Given the description of an element on the screen output the (x, y) to click on. 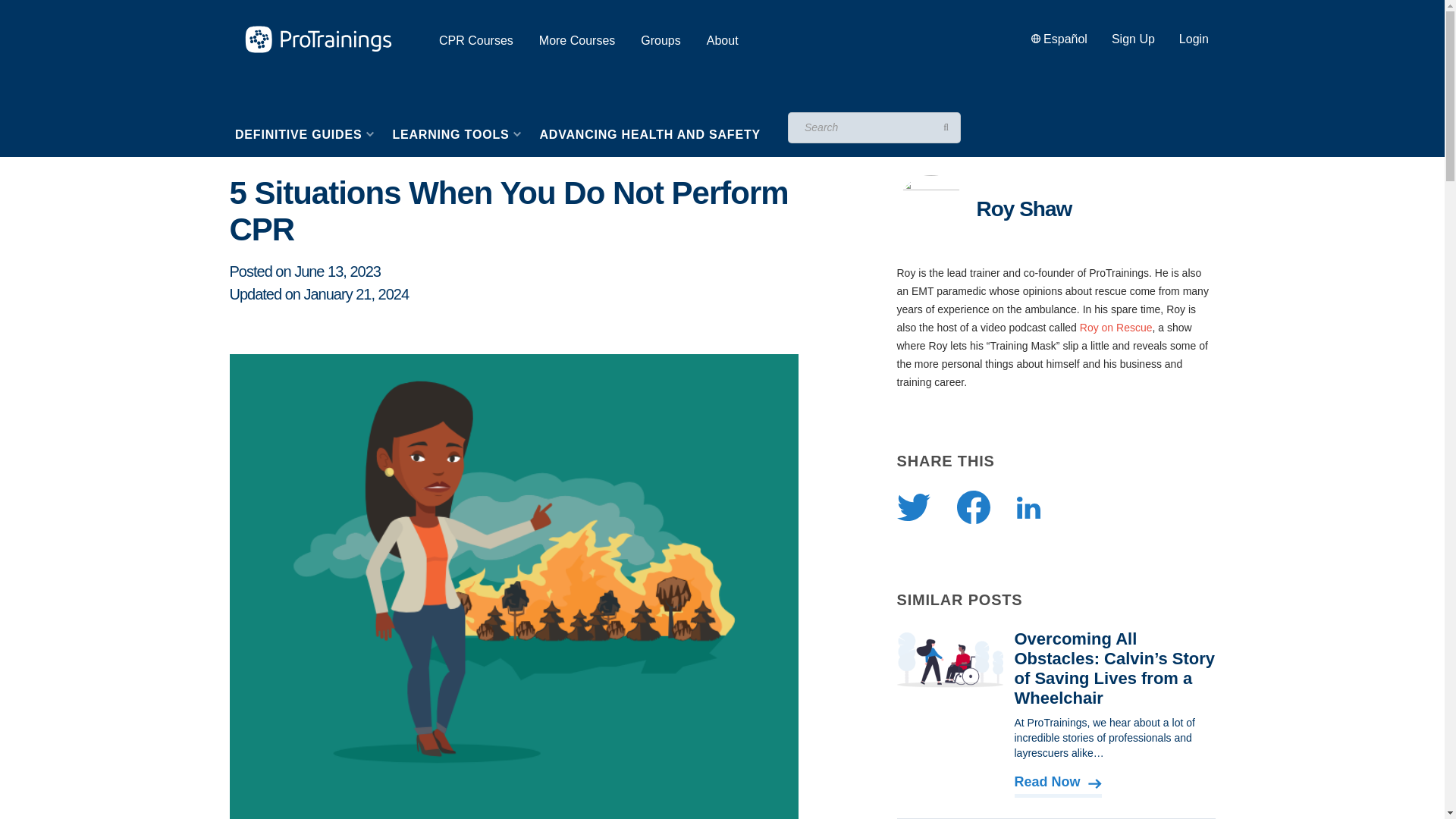
Sign Up (1133, 38)
LEARNING TOOLS (455, 134)
Login (1194, 38)
More Courses (576, 40)
Groups (660, 40)
Roy on Rescue (1116, 327)
ADVANCING HEALTH AND SAFETY (649, 134)
CPR Courses (475, 40)
About (722, 40)
Read Now (1058, 783)
DEFINITIVE GUIDES (303, 134)
